Given the description of an element on the screen output the (x, y) to click on. 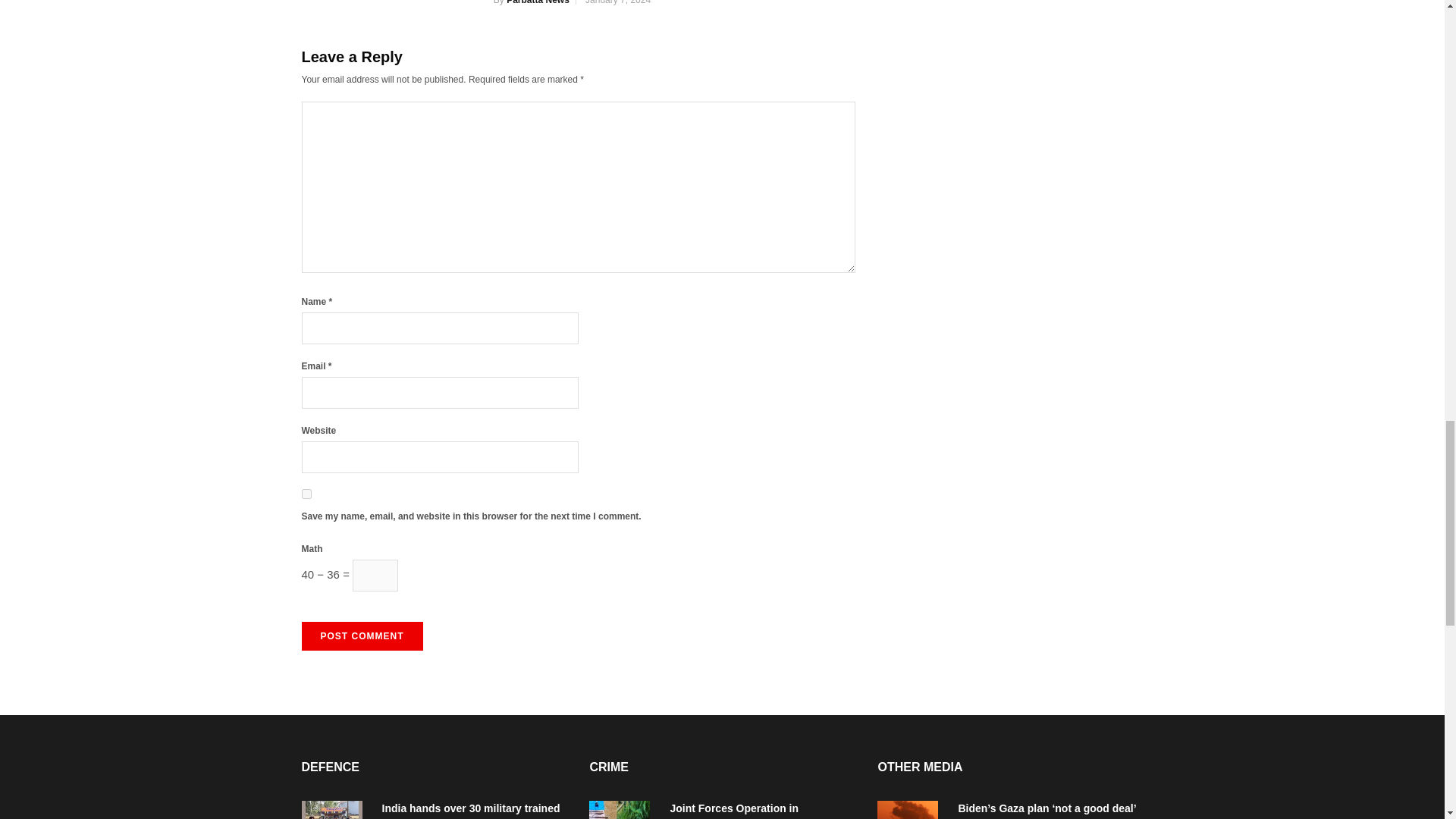
Post Comment (362, 635)
Parbatta News (537, 2)
Post Comment (362, 635)
yes (306, 493)
